Given the description of an element on the screen output the (x, y) to click on. 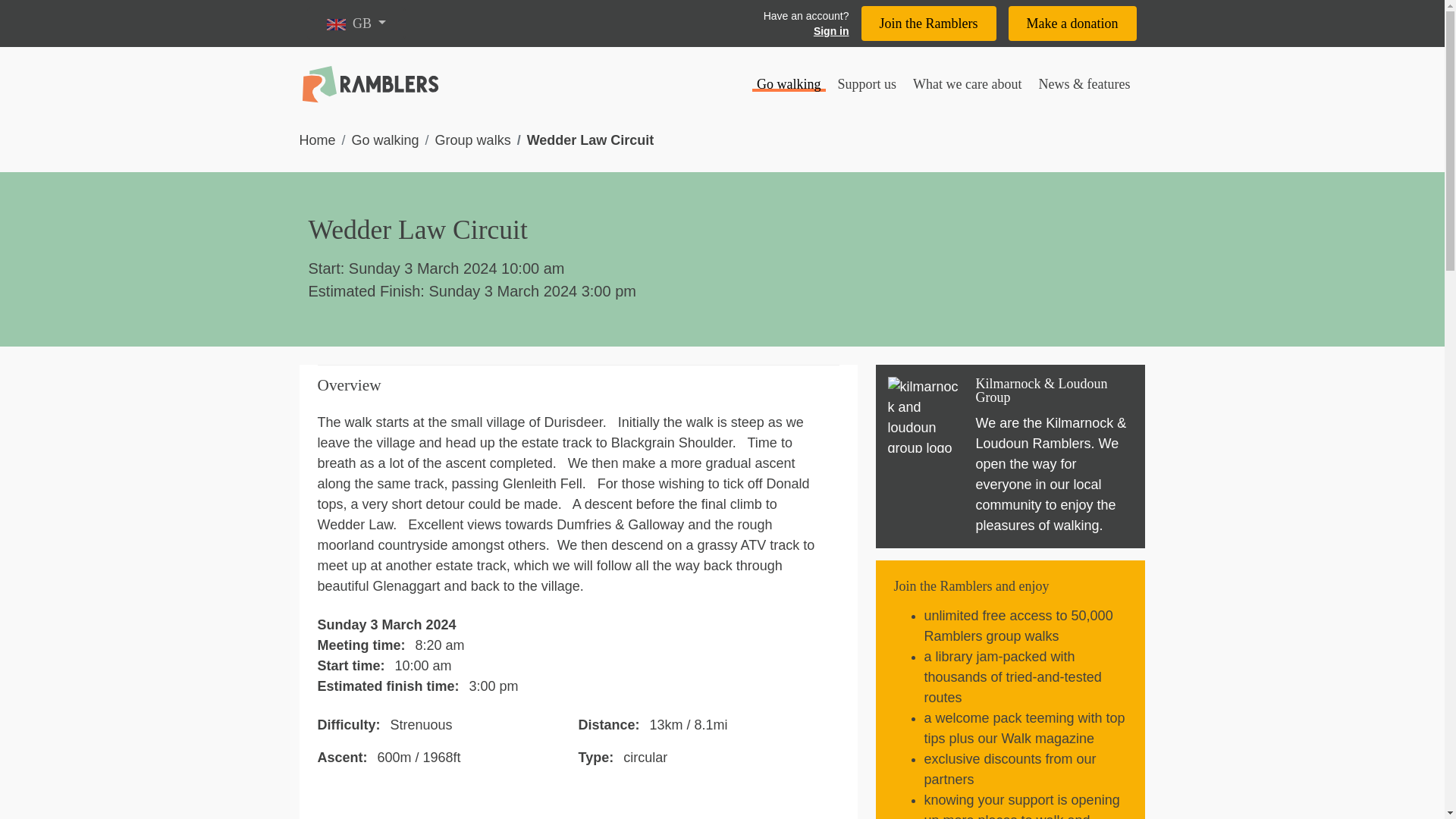
GB (355, 23)
Sign in (805, 30)
Go walking (385, 140)
Make a donation (1073, 22)
Support us (866, 84)
What we care about (967, 84)
Group walks (473, 140)
Go walking (788, 84)
Join the Ramblers (928, 22)
Home (316, 140)
